Given the description of an element on the screen output the (x, y) to click on. 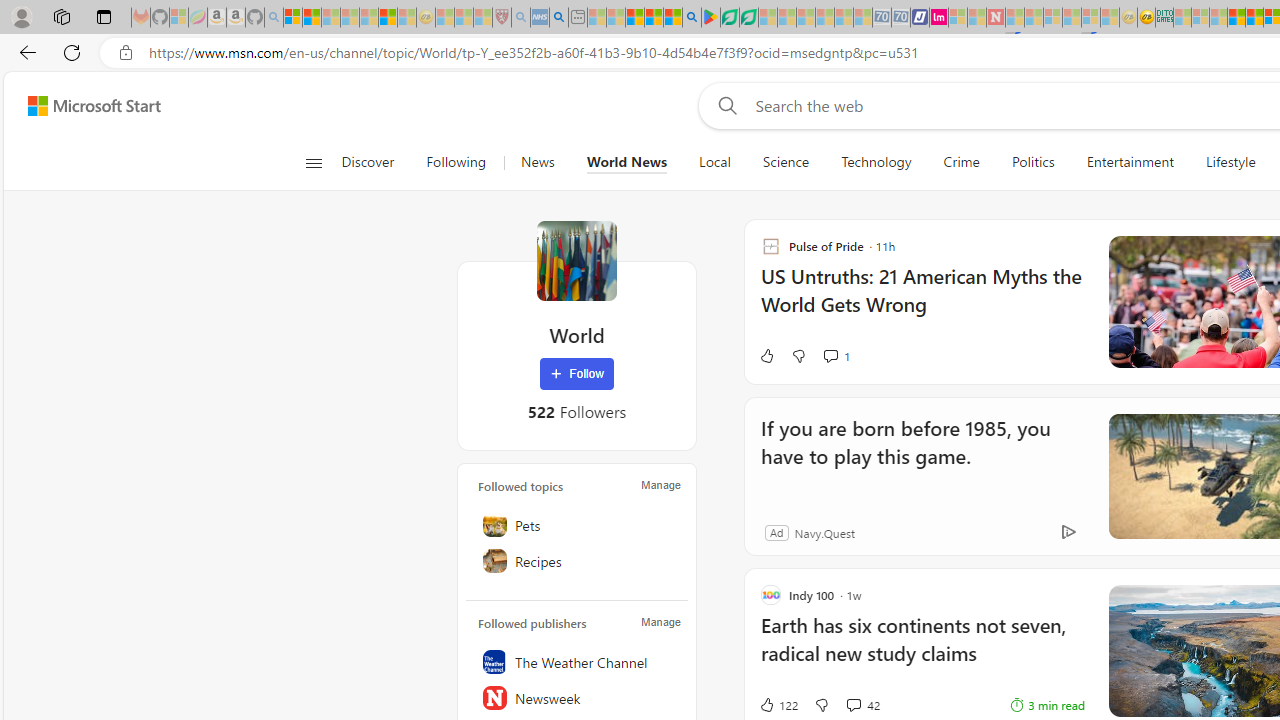
Science (785, 162)
Like (766, 355)
If you are born before 1985, you have to play this game. (916, 455)
Robert H. Shmerling, MD - Harvard Health - Sleeping (501, 17)
Lifestyle (1229, 162)
